Given the description of an element on the screen output the (x, y) to click on. 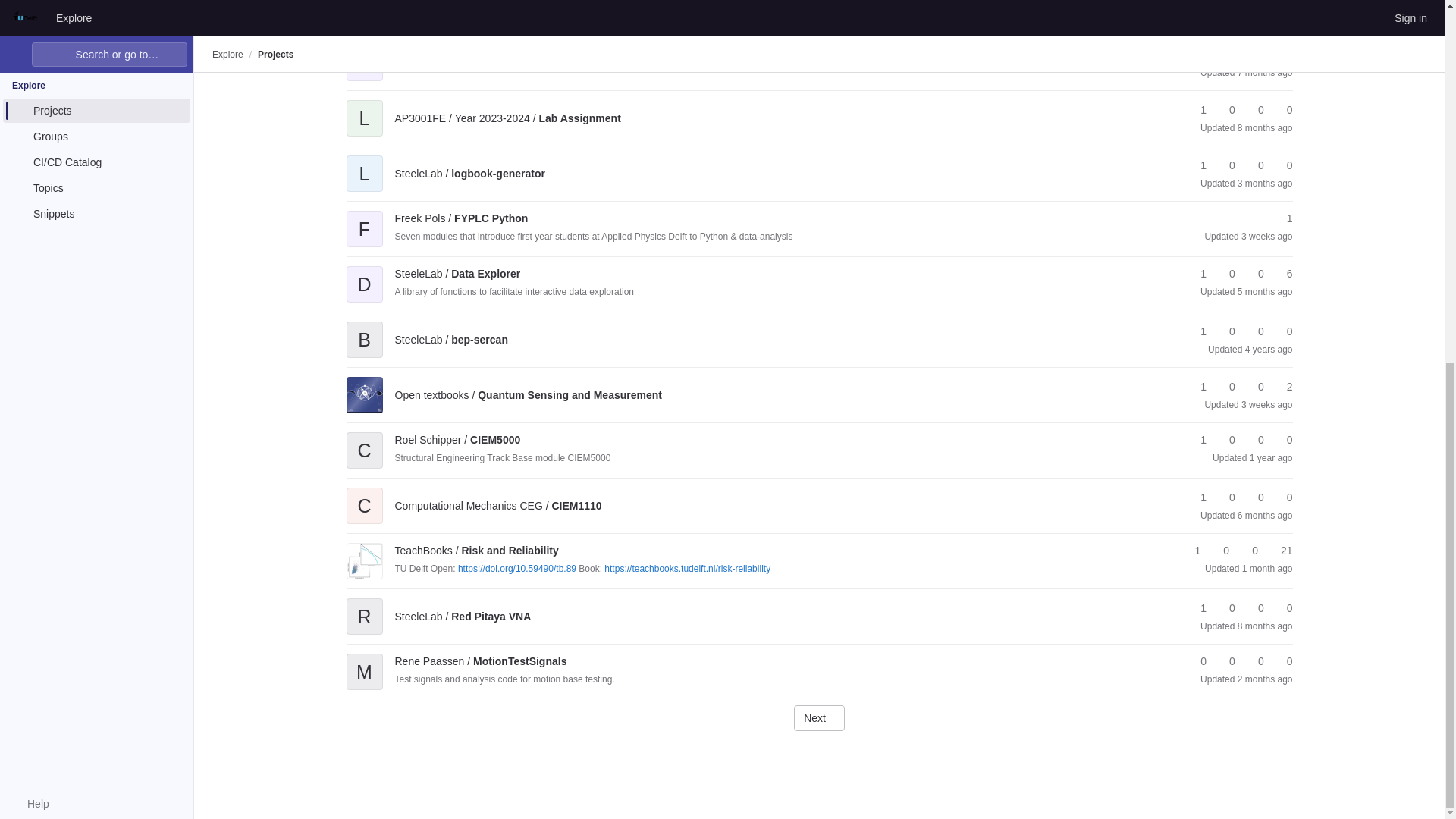
Help (30, 155)
